Given the description of an element on the screen output the (x, y) to click on. 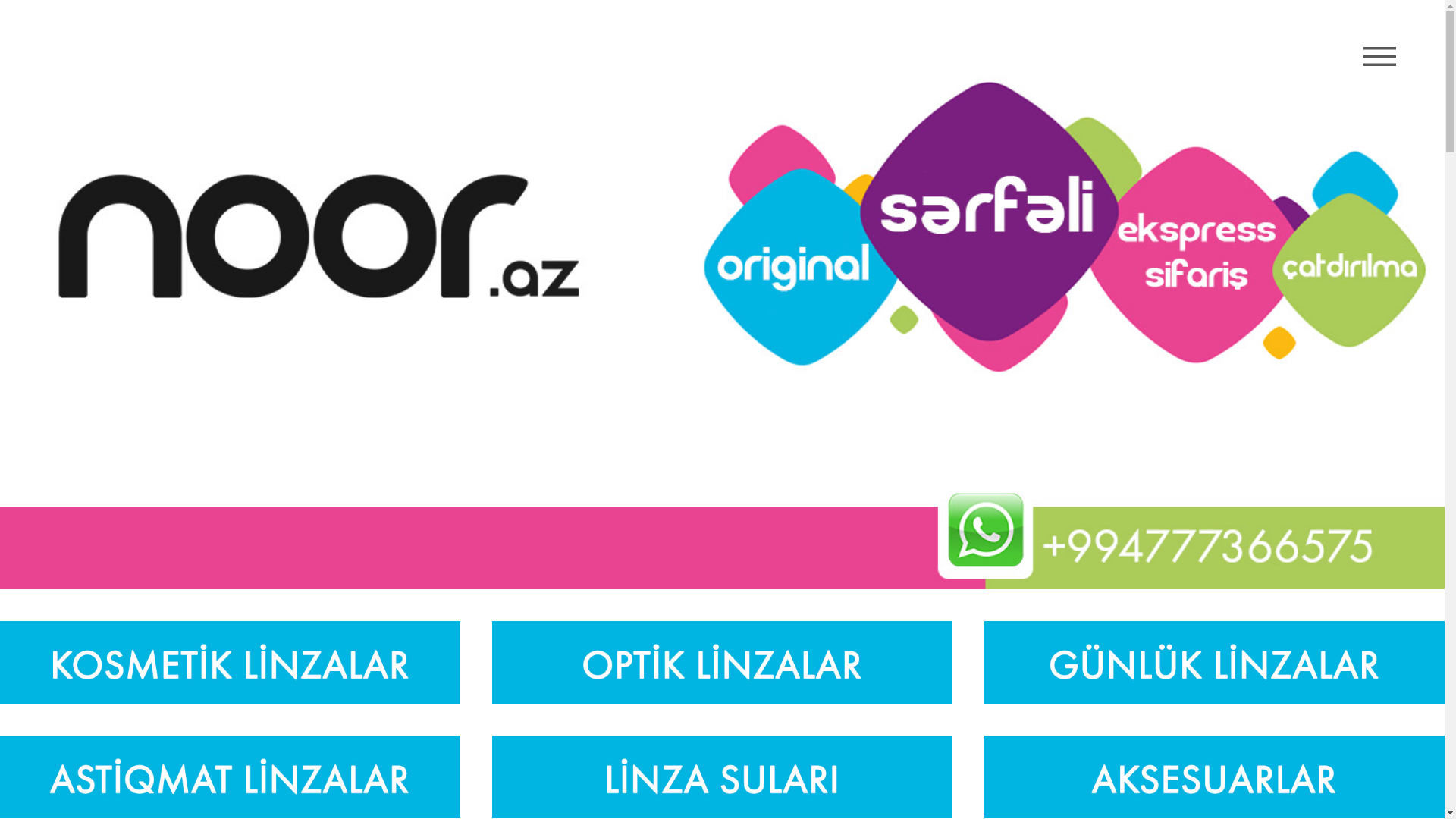
MENU Element type: text (1379, 56)
